Given the description of an element on the screen output the (x, y) to click on. 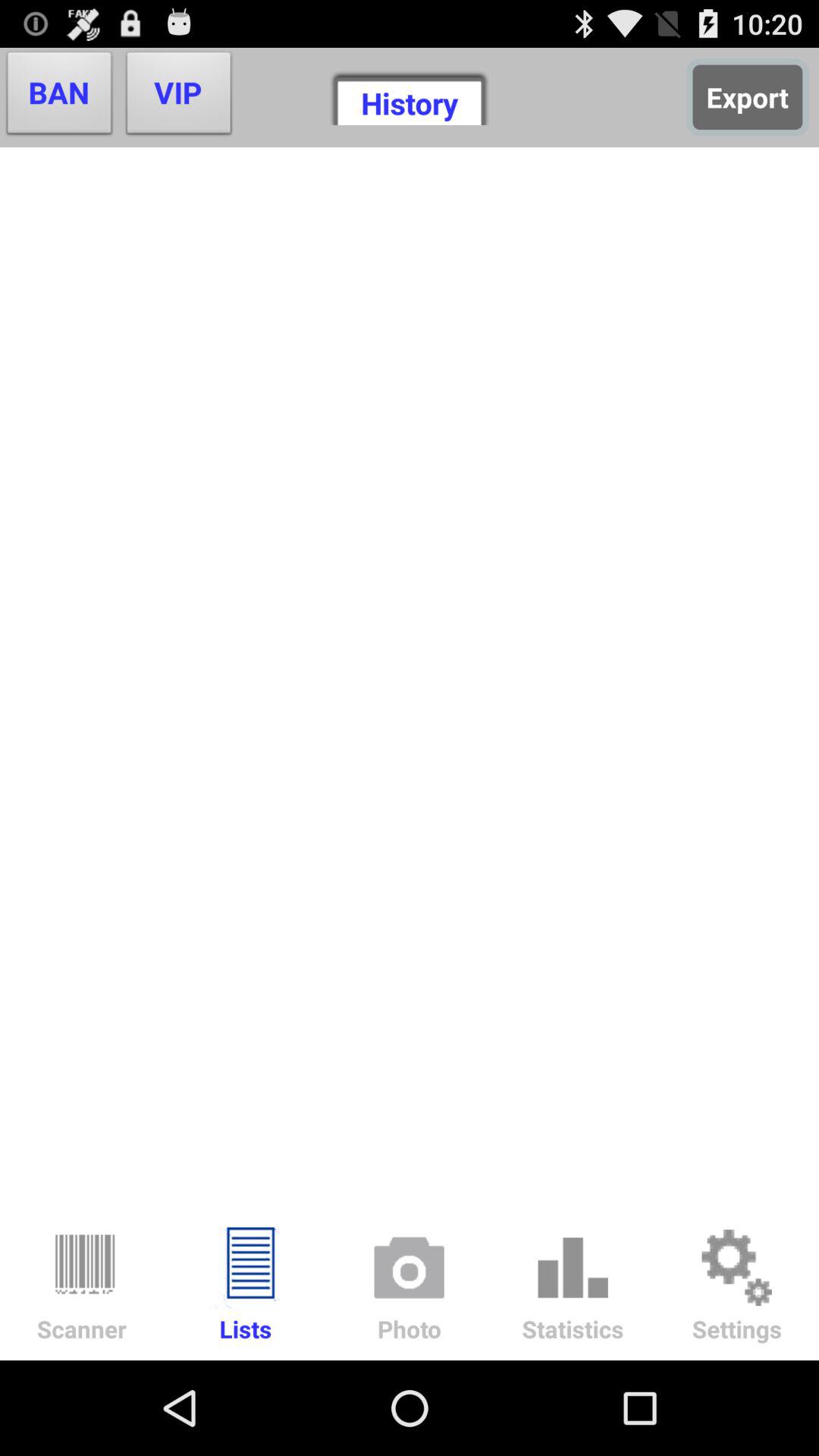
press button to the right of the history icon (747, 96)
